Given the description of an element on the screen output the (x, y) to click on. 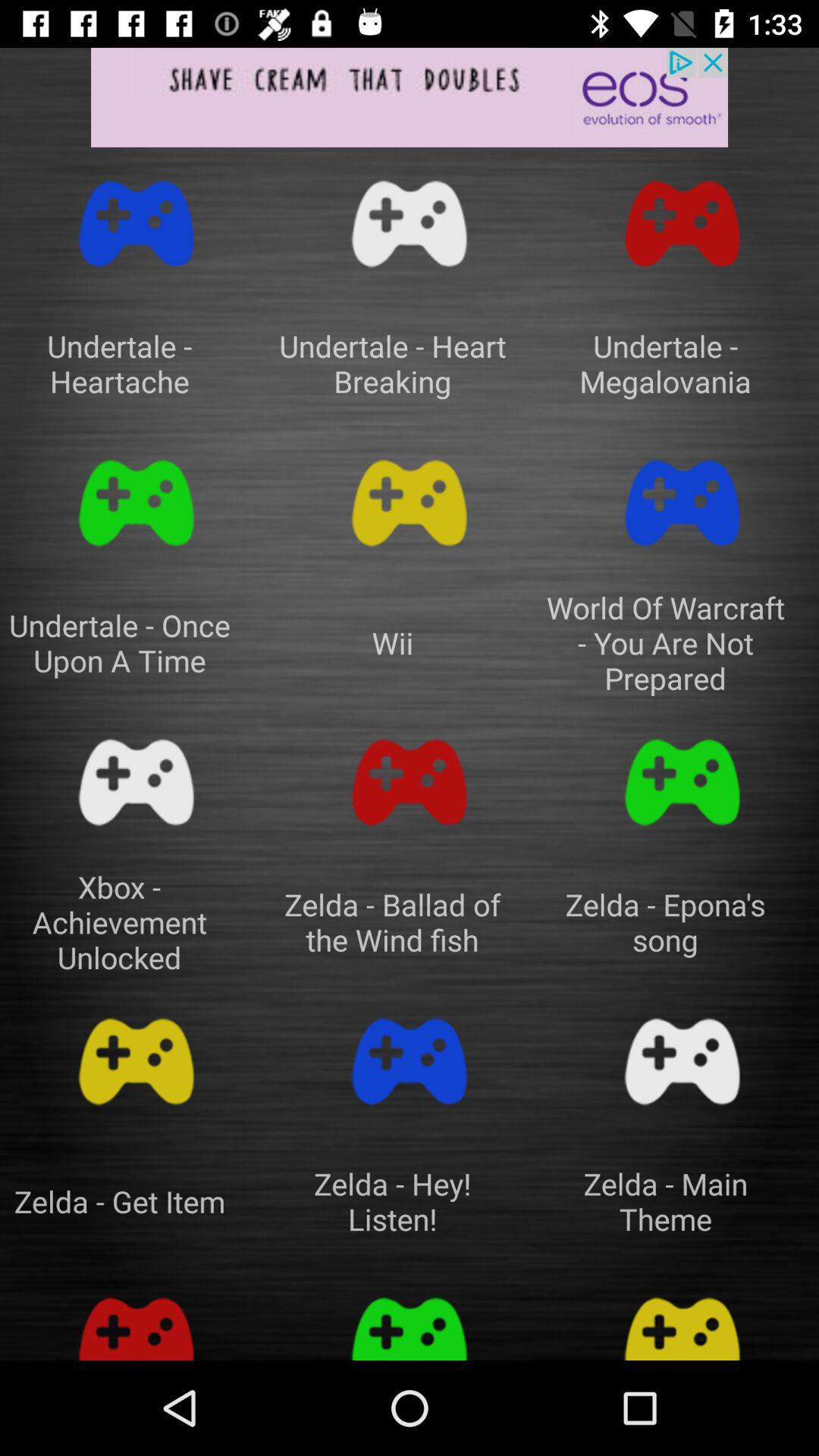
undertale-once upon a time theme for video games (136, 503)
